Given the description of an element on the screen output the (x, y) to click on. 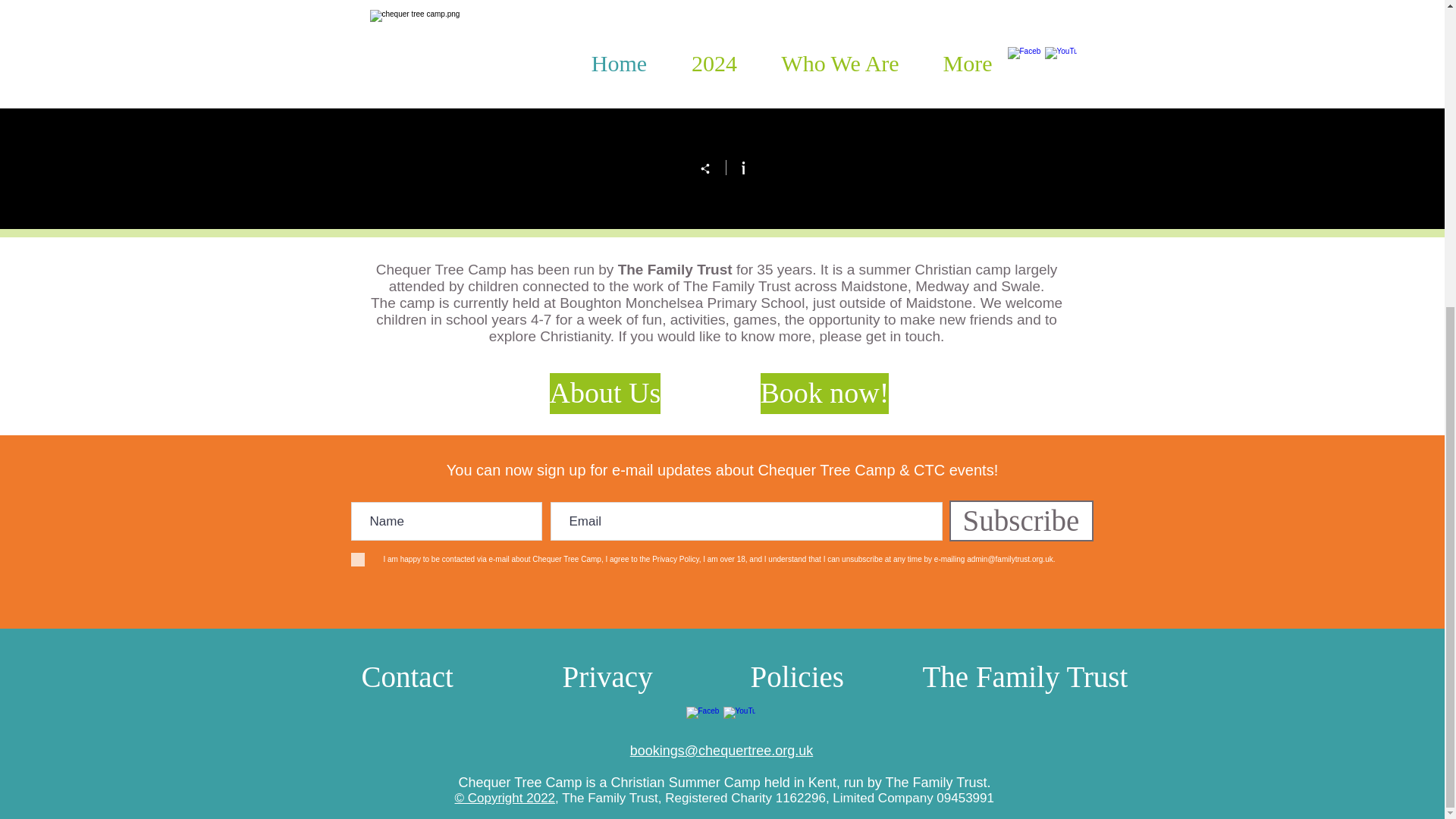
Subscribe (1021, 520)
About Us (604, 393)
Contact (406, 677)
The Family Trust (674, 269)
Policies (797, 677)
Privacy (607, 677)
The Family Trust (1023, 677)
